Given the description of an element on the screen output the (x, y) to click on. 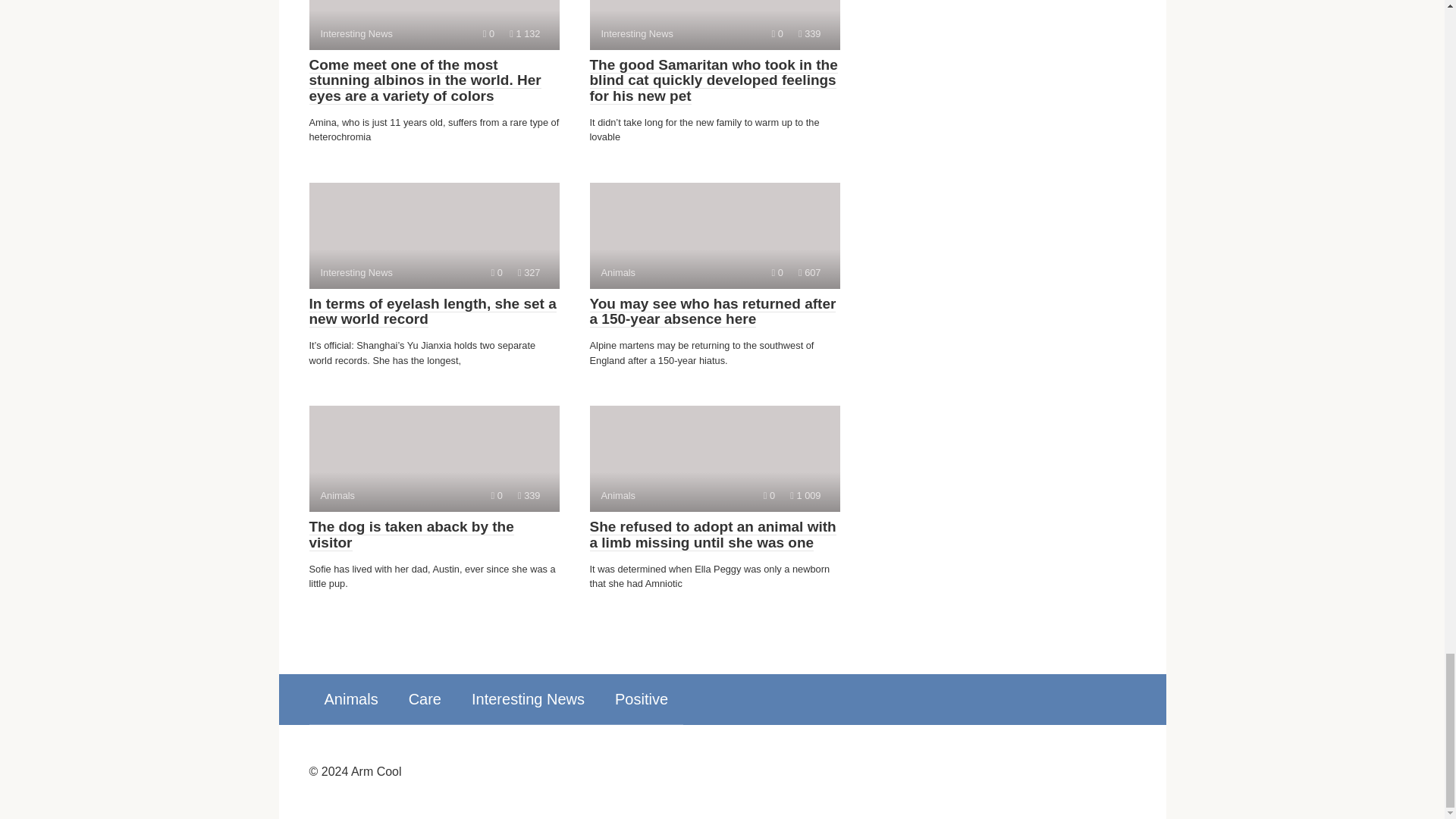
In terms of eyelash length, she set a new world record (714, 458)
The dog is taken aback by the visitor (433, 235)
Positive (432, 311)
Interesting News (410, 534)
Animals (640, 698)
Care (528, 698)
You may see who has returned after a 150-year absence here (350, 698)
